Given the description of an element on the screen output the (x, y) to click on. 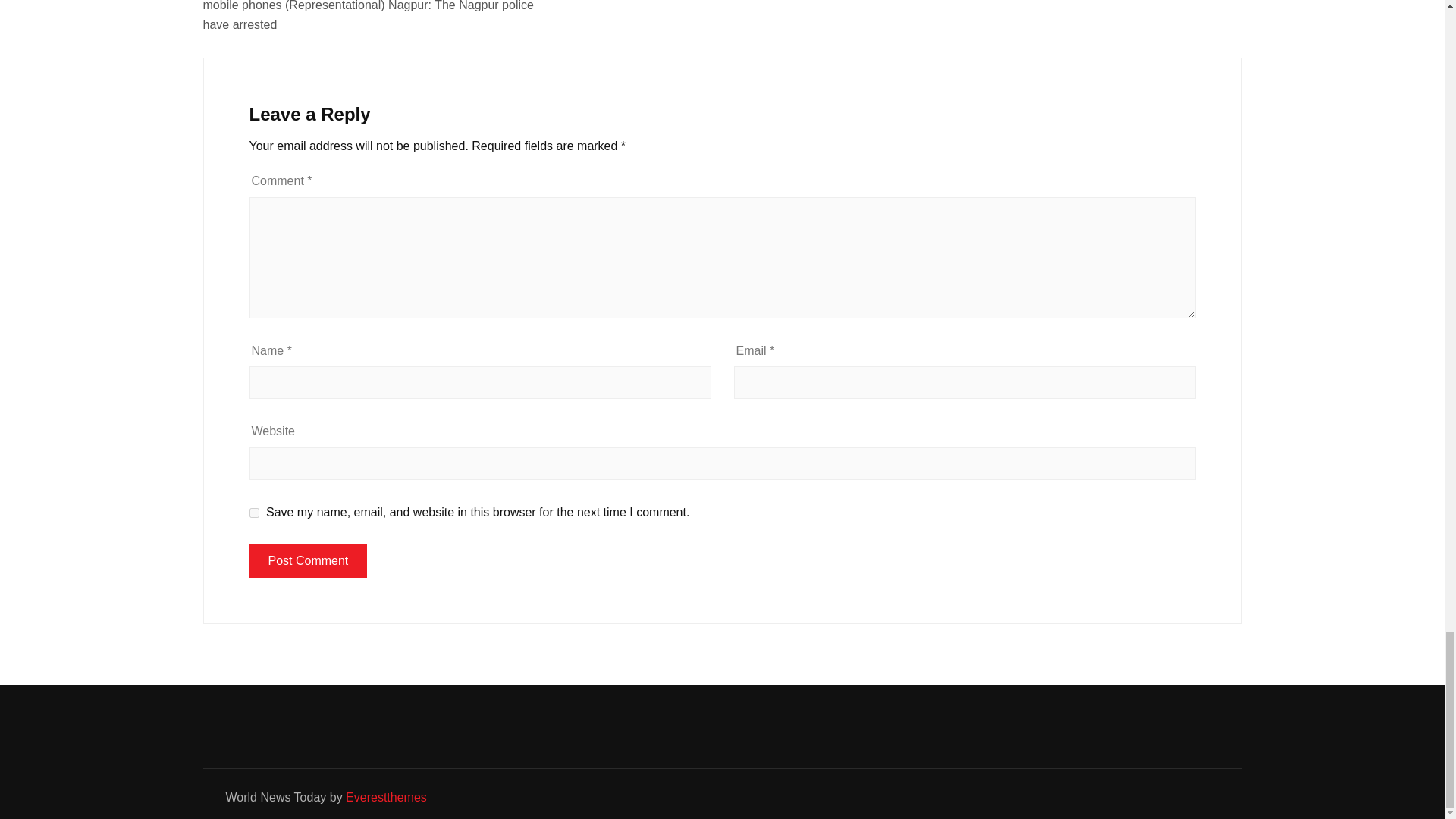
yes (253, 512)
Post Comment (307, 561)
